Given the description of an element on the screen output the (x, y) to click on. 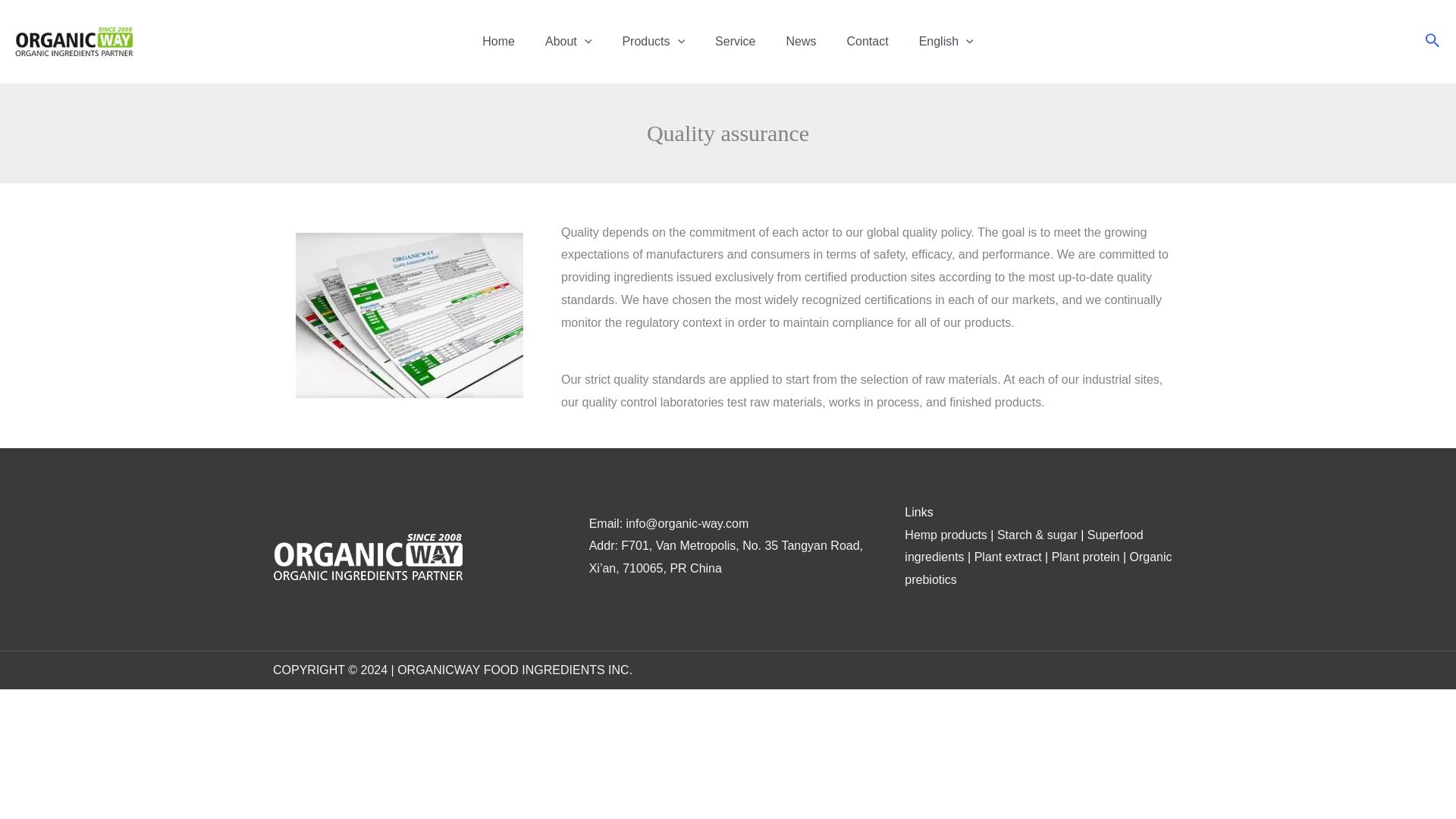
English (946, 41)
Contact (866, 41)
English (946, 41)
Search (56, 28)
News (800, 41)
Quality Assurance (408, 315)
About (568, 41)
Service (735, 41)
Home (498, 41)
Products (653, 41)
